Given the description of an element on the screen output the (x, y) to click on. 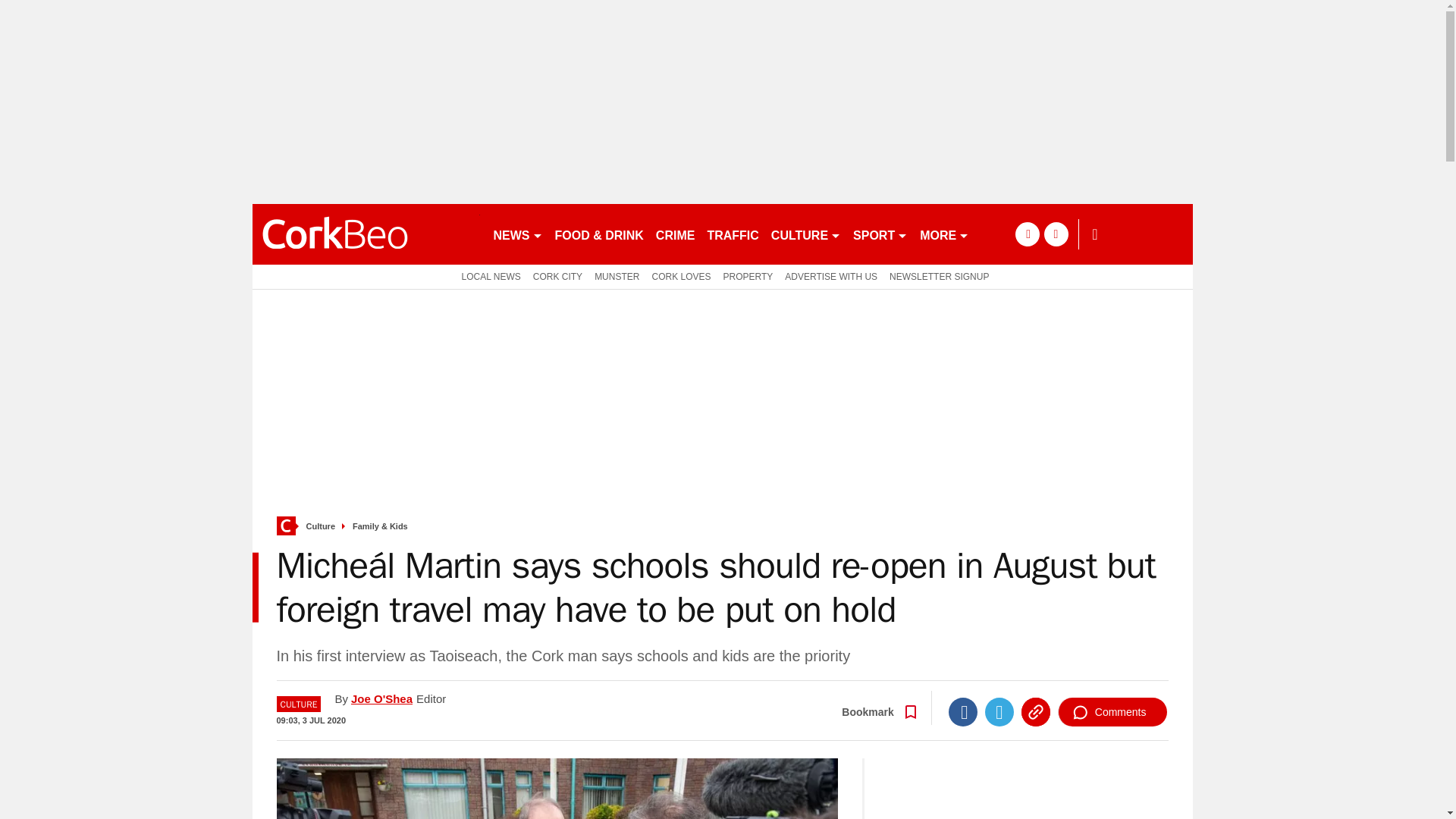
MUNSTER (616, 275)
PROPERTY (747, 275)
NEWS (517, 233)
TRAFFIC (732, 233)
corklive (365, 233)
LOCAL NEWS (488, 275)
Twitter (999, 711)
SPORT (880, 233)
CORK CITY (557, 275)
MORE (944, 233)
